Given the description of an element on the screen output the (x, y) to click on. 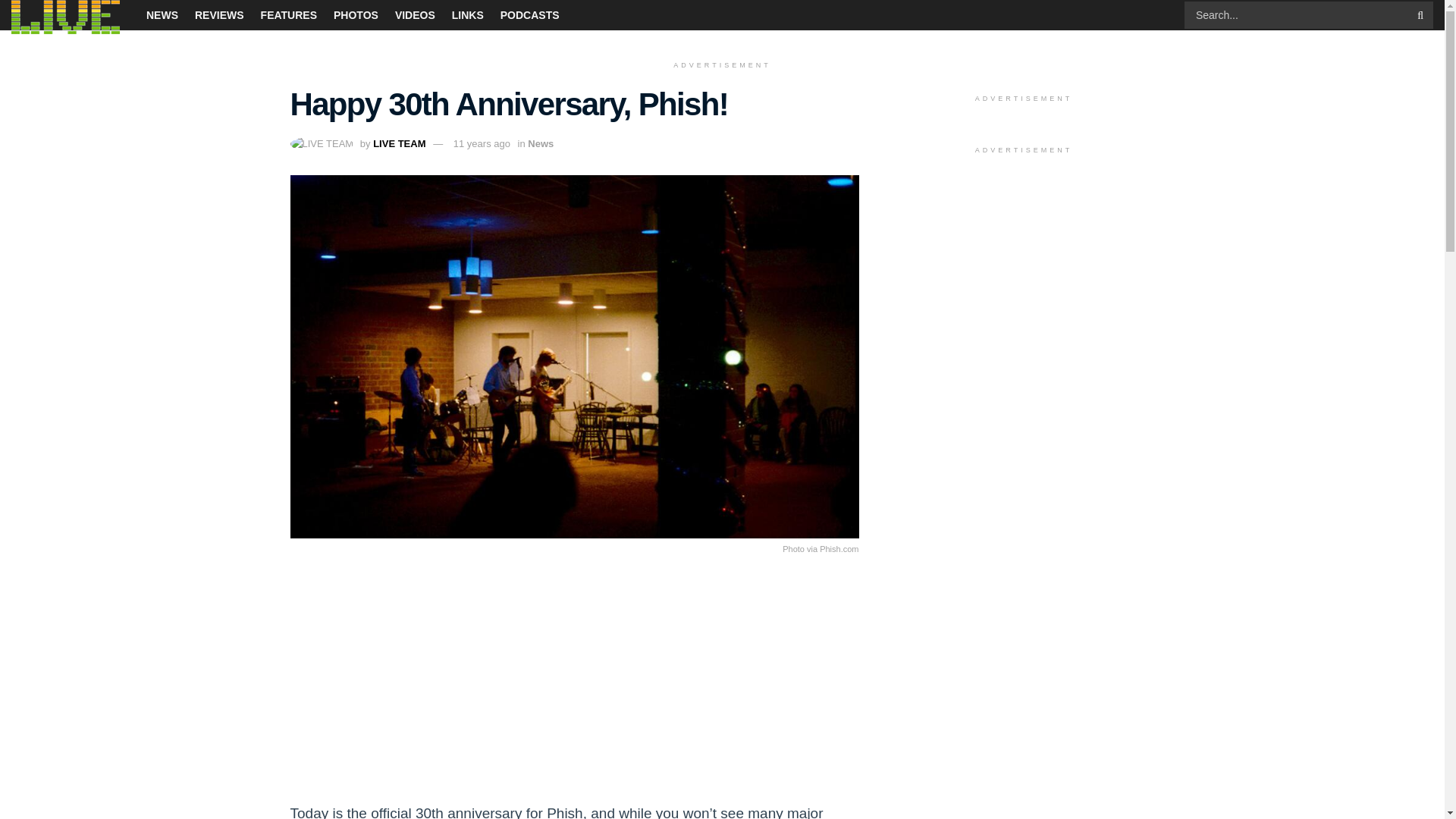
LINKS (467, 15)
News (540, 143)
PHOTOS (355, 15)
FEATURES (288, 15)
VIDEOS (414, 15)
LIVE TEAM (398, 143)
PODCASTS (529, 15)
REVIEWS (219, 15)
NEWS (162, 15)
Advertisement (574, 686)
11 years ago (481, 143)
